Given the description of an element on the screen output the (x, y) to click on. 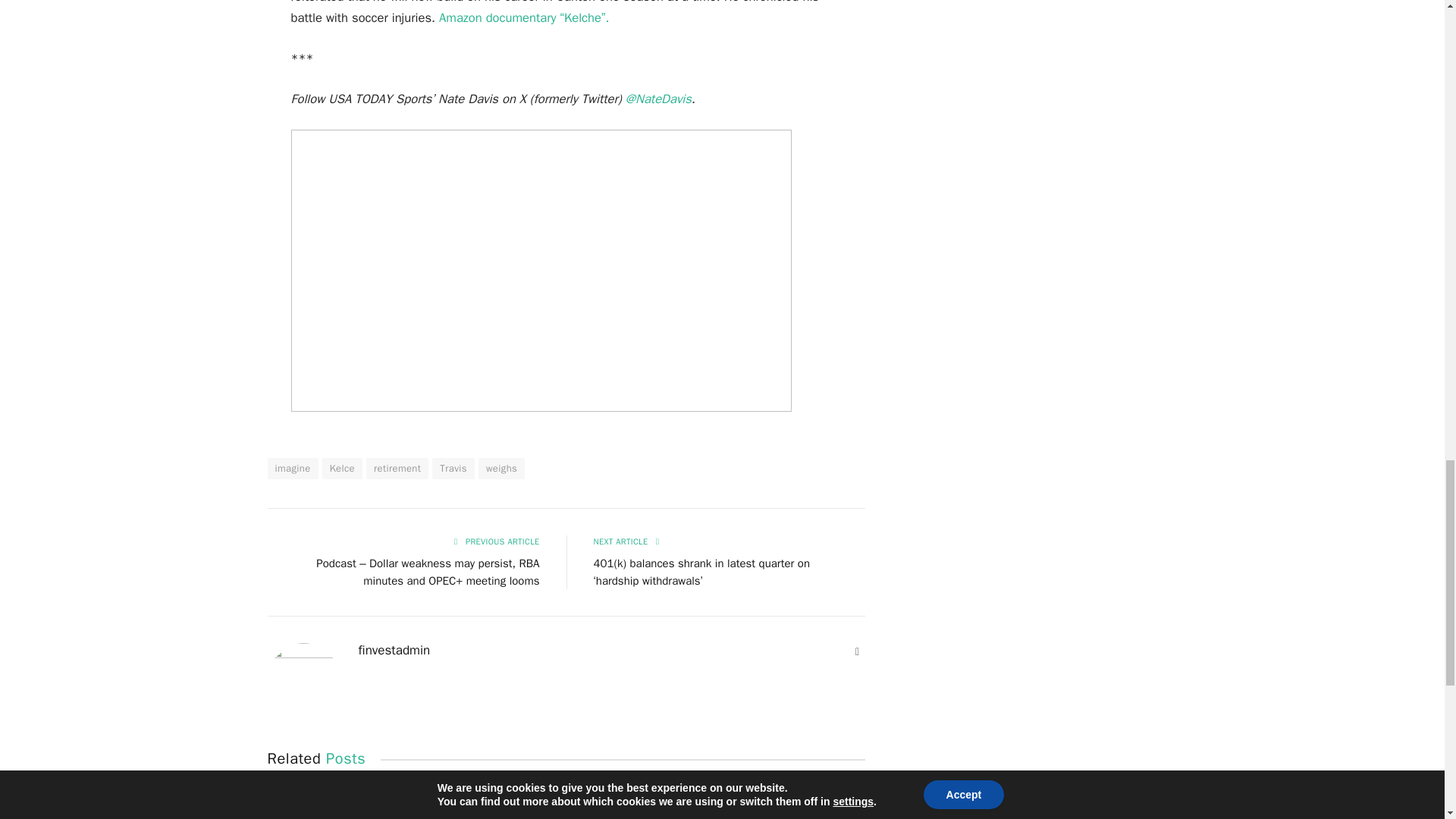
retirement (397, 468)
Posts by finvestadmin (393, 650)
Website (856, 652)
Kelce (341, 468)
How much Gen X has saved for retirement (359, 803)
imagine (291, 468)
